Given the description of an element on the screen output the (x, y) to click on. 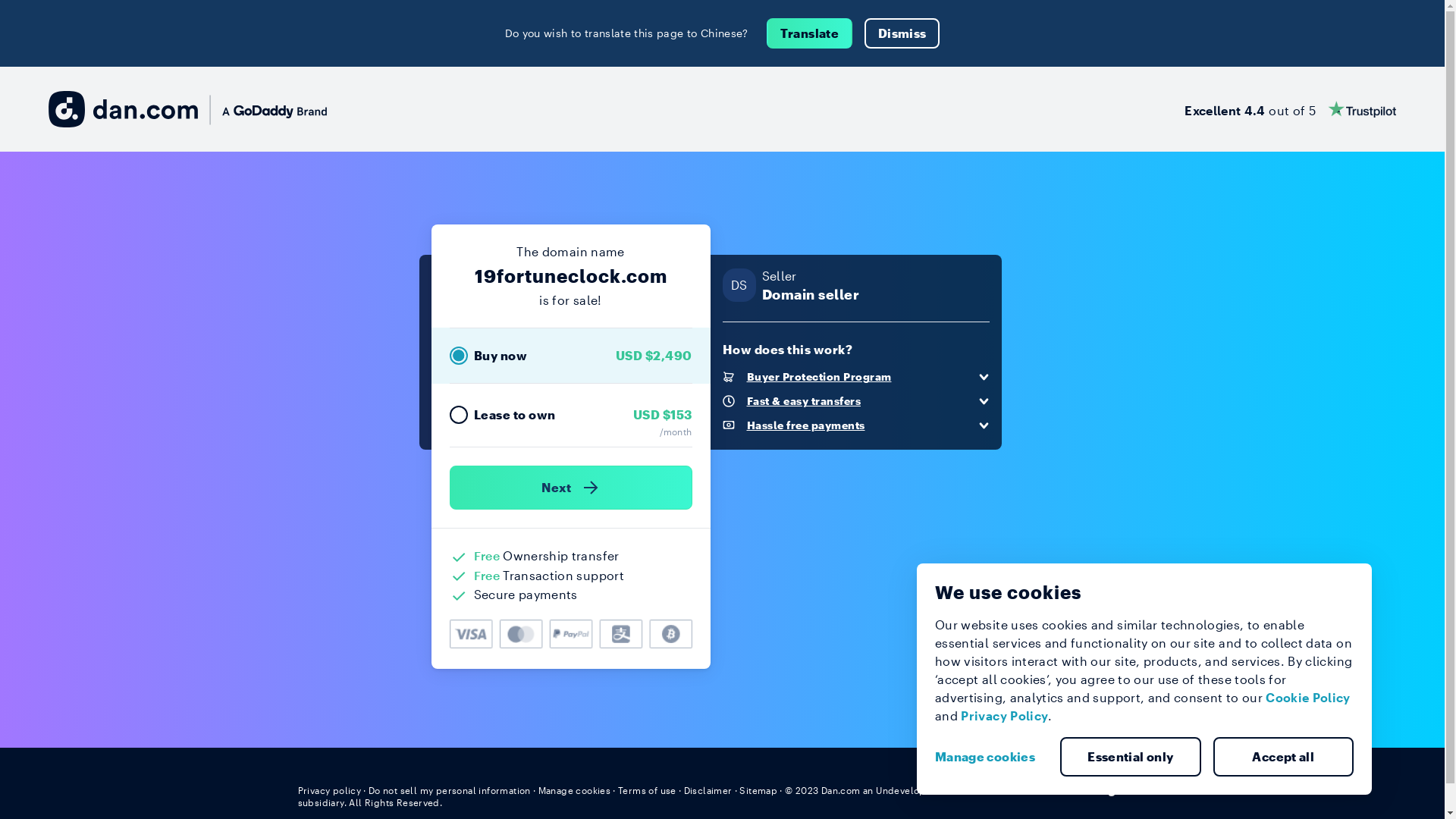
Translate Element type: text (809, 33)
Privacy Policy Element type: text (1004, 715)
Cookie Policy Element type: text (1307, 697)
Sitemap Element type: text (758, 789)
Dismiss Element type: text (901, 33)
Excellent 4.4 out of 5 Element type: text (1290, 109)
Essential only Element type: text (1130, 756)
Manage cookies Element type: text (574, 790)
English Element type: text (1119, 789)
Privacy policy Element type: text (328, 789)
Accept all Element type: text (1283, 756)
Do not sell my personal information Element type: text (449, 789)
Terms of use Element type: text (647, 789)
Next
) Element type: text (569, 487)
Manage cookies Element type: text (991, 756)
Disclaimer Element type: text (708, 789)
